Given the description of an element on the screen output the (x, y) to click on. 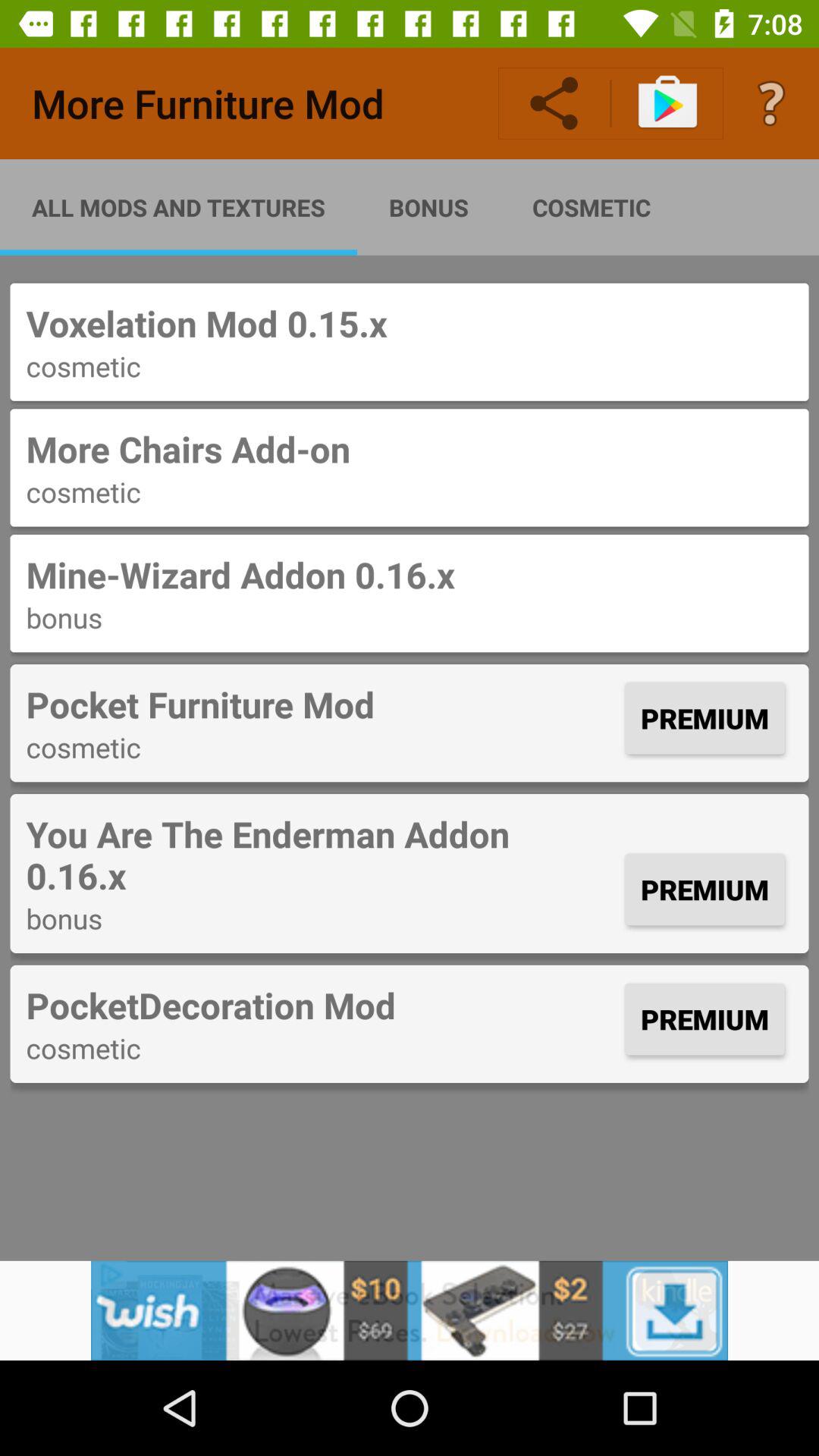
select the play store option (668, 103)
click the text from second row (409, 468)
click on minewizard addon 016x option (409, 593)
select the button which is left to playstore button (554, 103)
select   or help  button which is after play store icon on a page (771, 103)
